Given the description of an element on the screen output the (x, y) to click on. 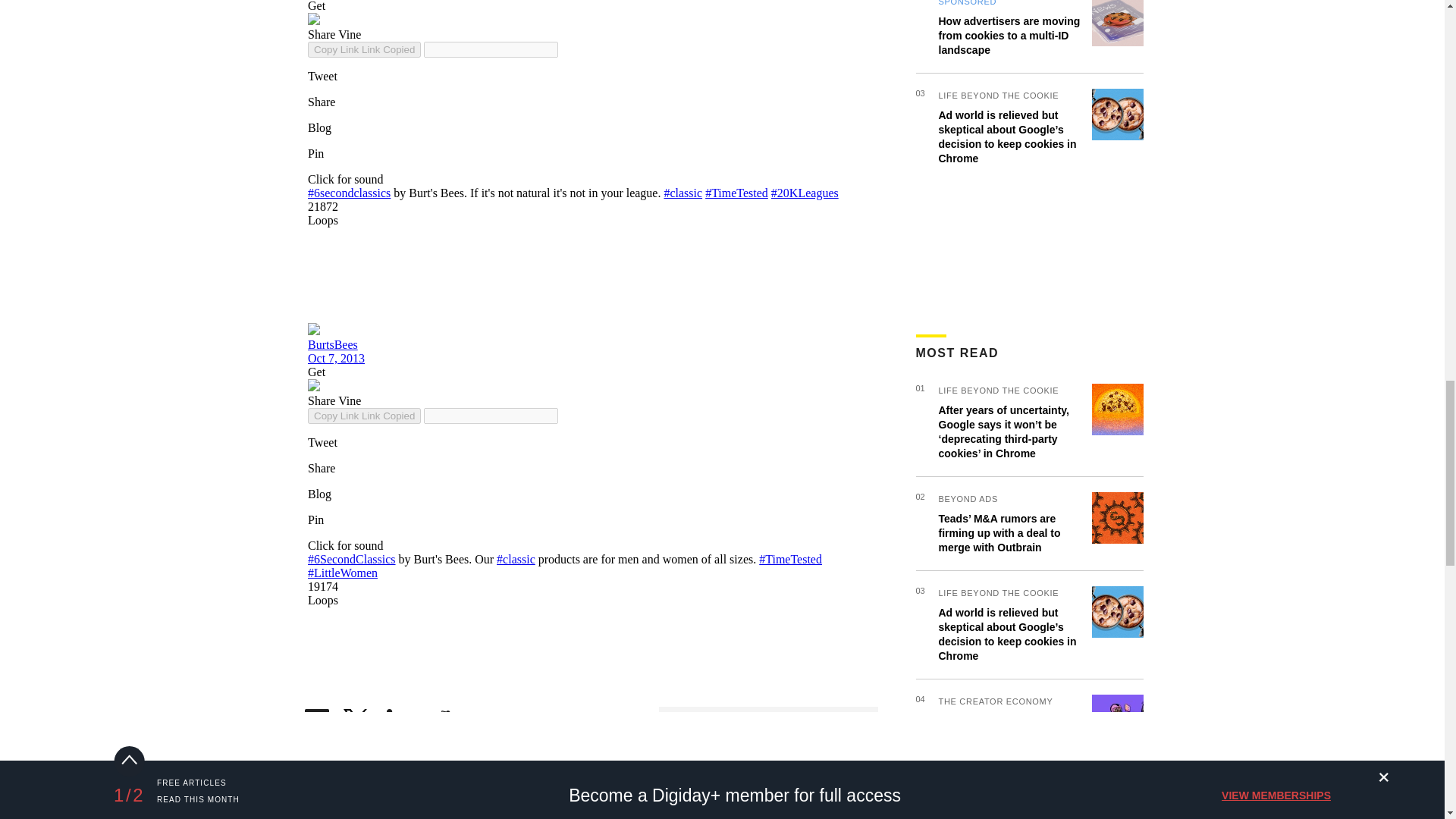
Share on Facebook (316, 717)
Share on LinkedIn (398, 717)
Share on Twitter (357, 717)
Share on Reddit (440, 717)
